Given the description of an element on the screen output the (x, y) to click on. 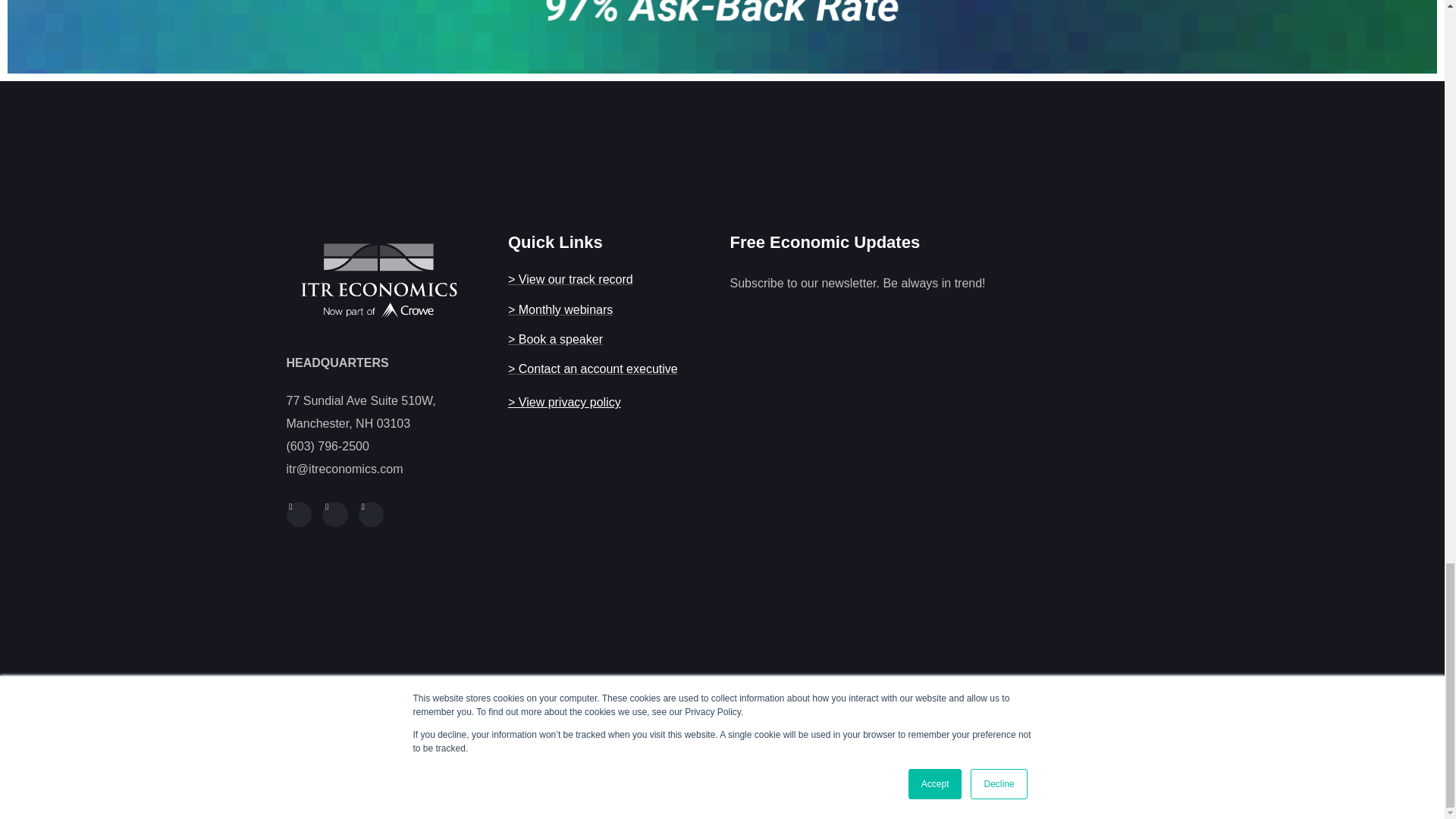
Form 0 (932, 482)
